Given the description of an element on the screen output the (x, y) to click on. 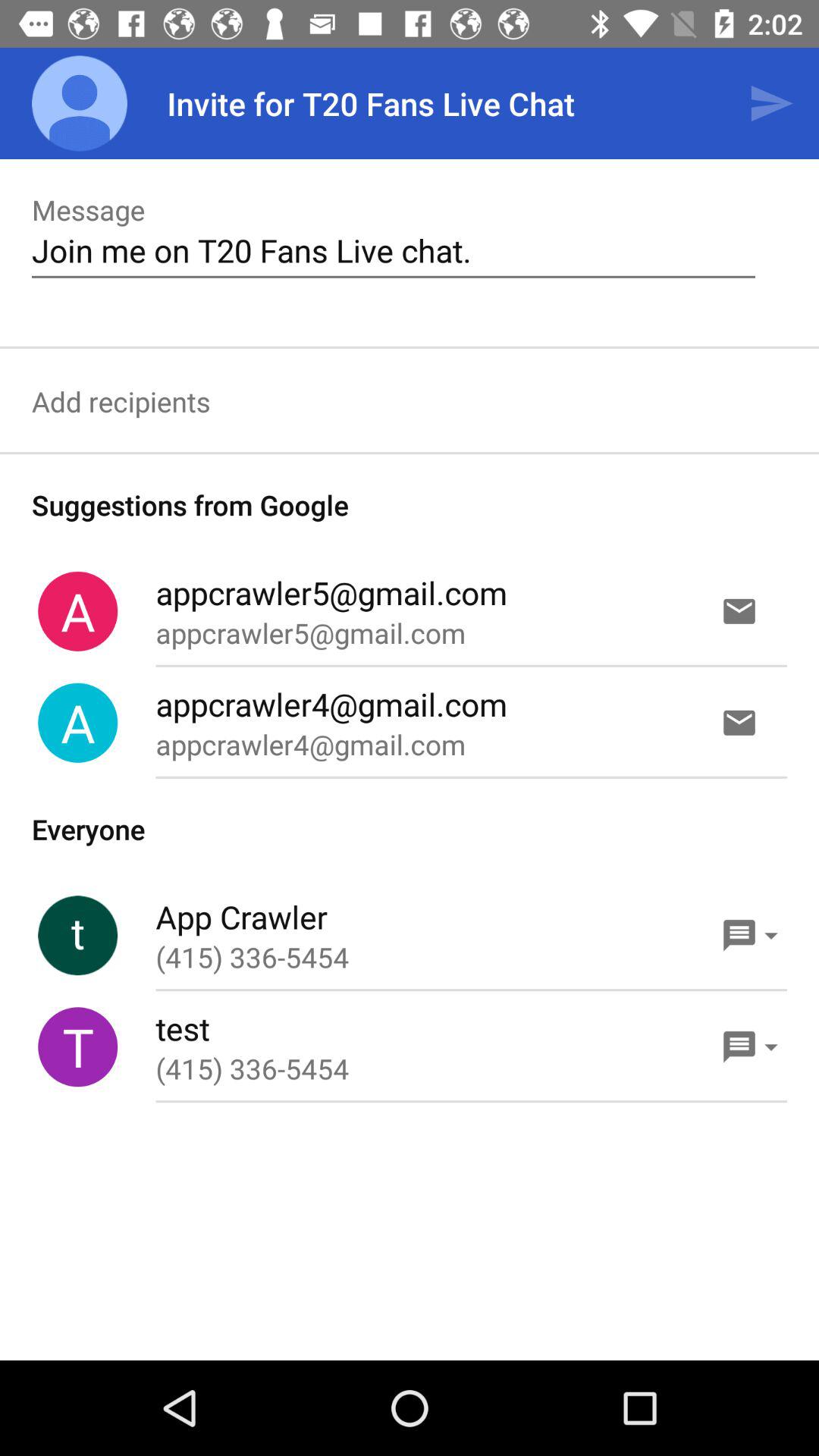
turn on the app to the right of the invite for t20 icon (771, 103)
